Given the description of an element on the screen output the (x, y) to click on. 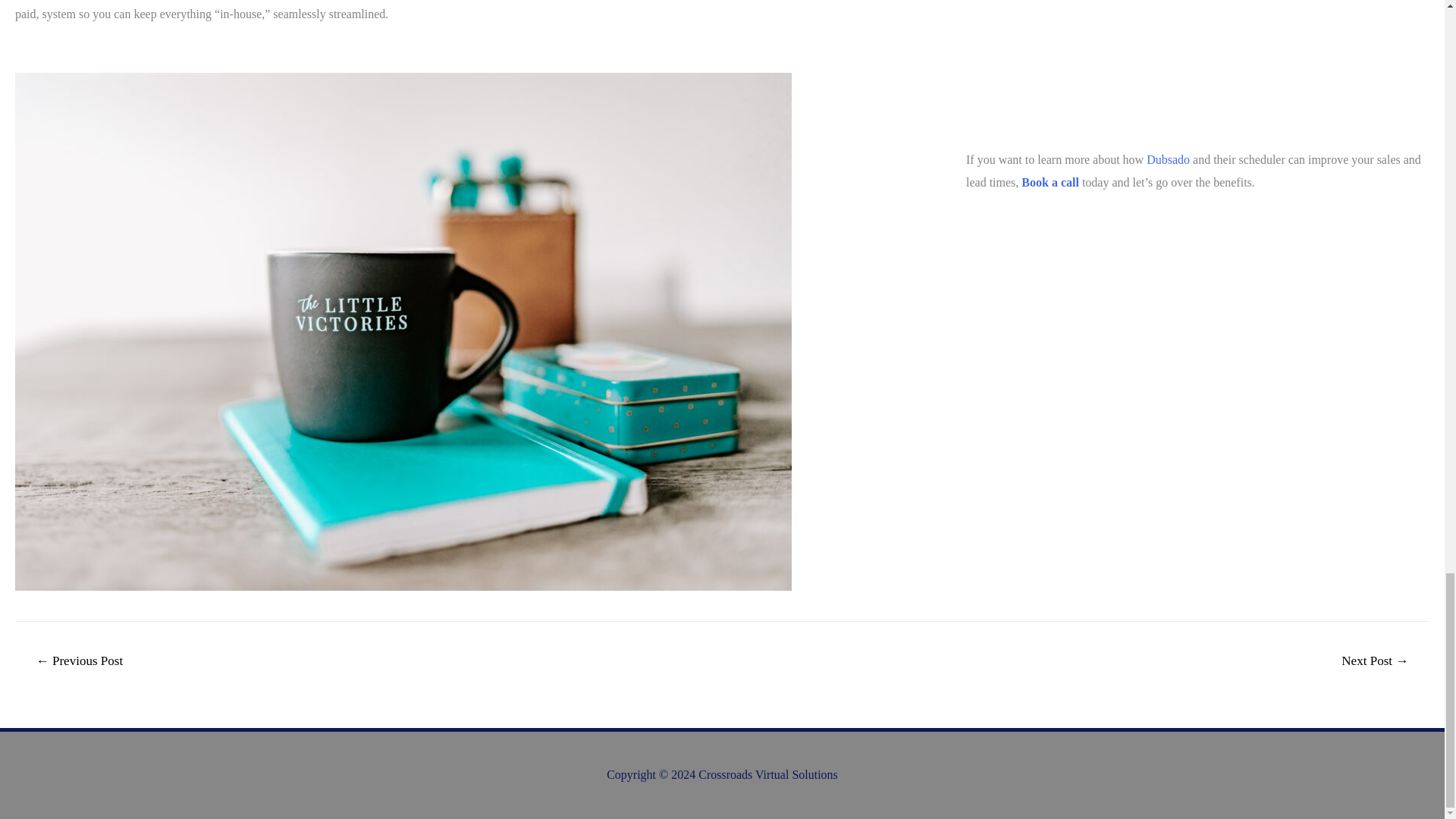
Dubsado (1168, 159)
Book a call (1051, 182)
